Given the description of an element on the screen output the (x, y) to click on. 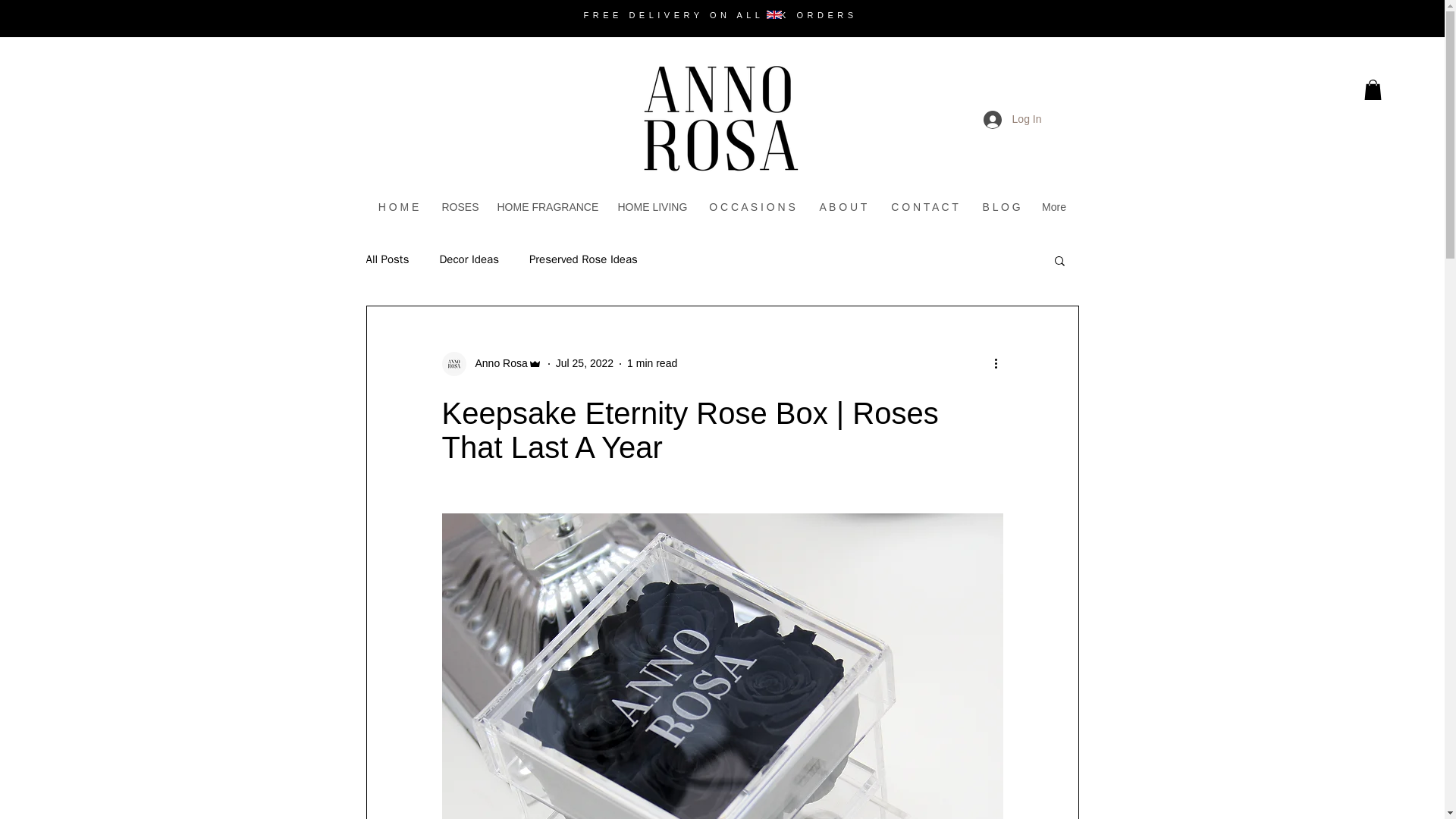
1 min read (652, 363)
ROSES (458, 207)
HOME FRAGRANCE (544, 207)
B L O G (1000, 207)
HOME LIVING (652, 207)
Log In (1012, 119)
Decor Ideas (469, 259)
Anno Rosa (491, 363)
A B O U T (843, 207)
All Posts (387, 259)
Anno Rosa (496, 363)
O C C A S I O N S (751, 207)
Jul 25, 2022 (584, 363)
Preserved Rose Ideas (583, 259)
